Given the description of an element on the screen output the (x, y) to click on. 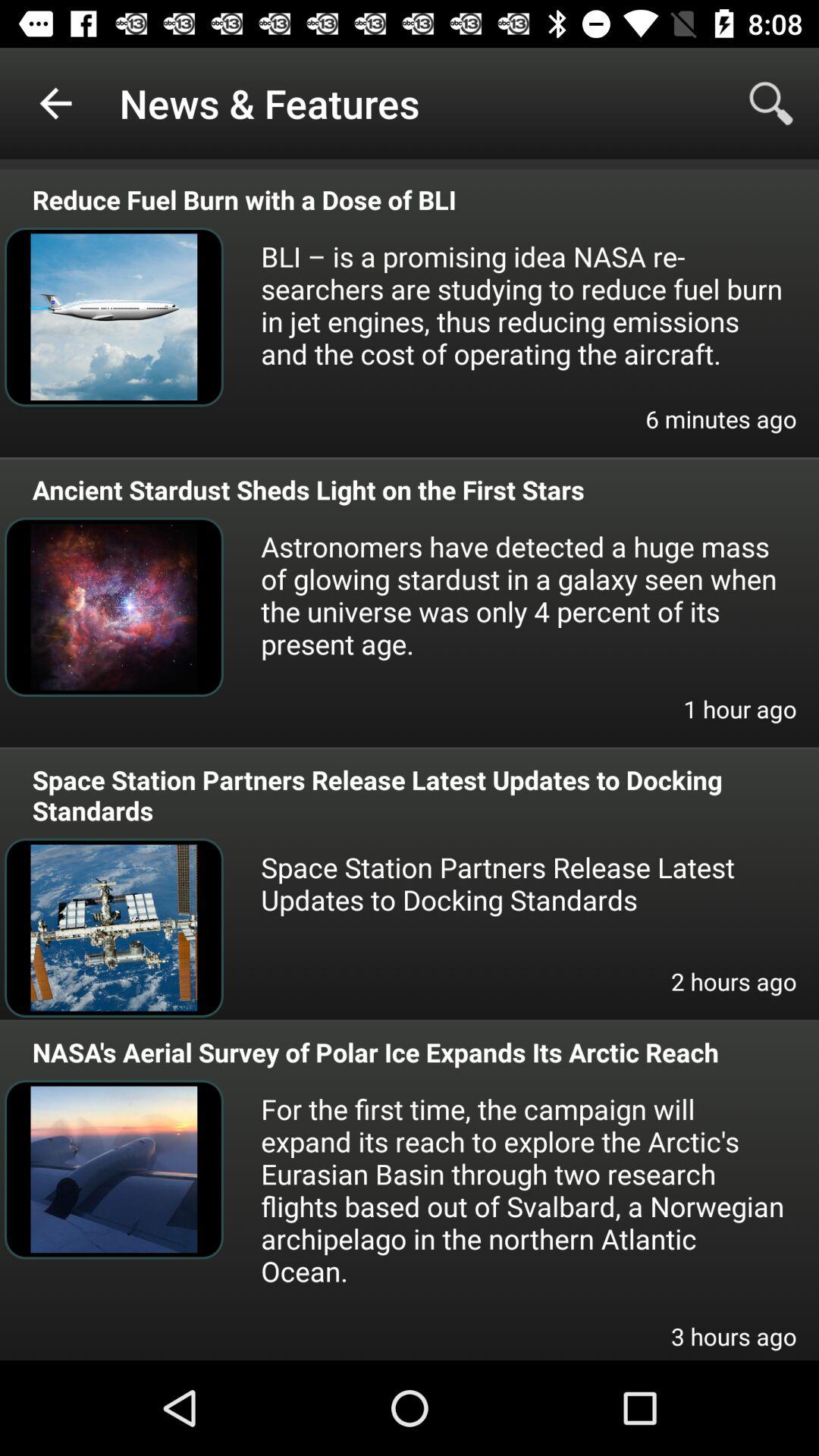
press the item on the right (739, 718)
